Given the description of an element on the screen output the (x, y) to click on. 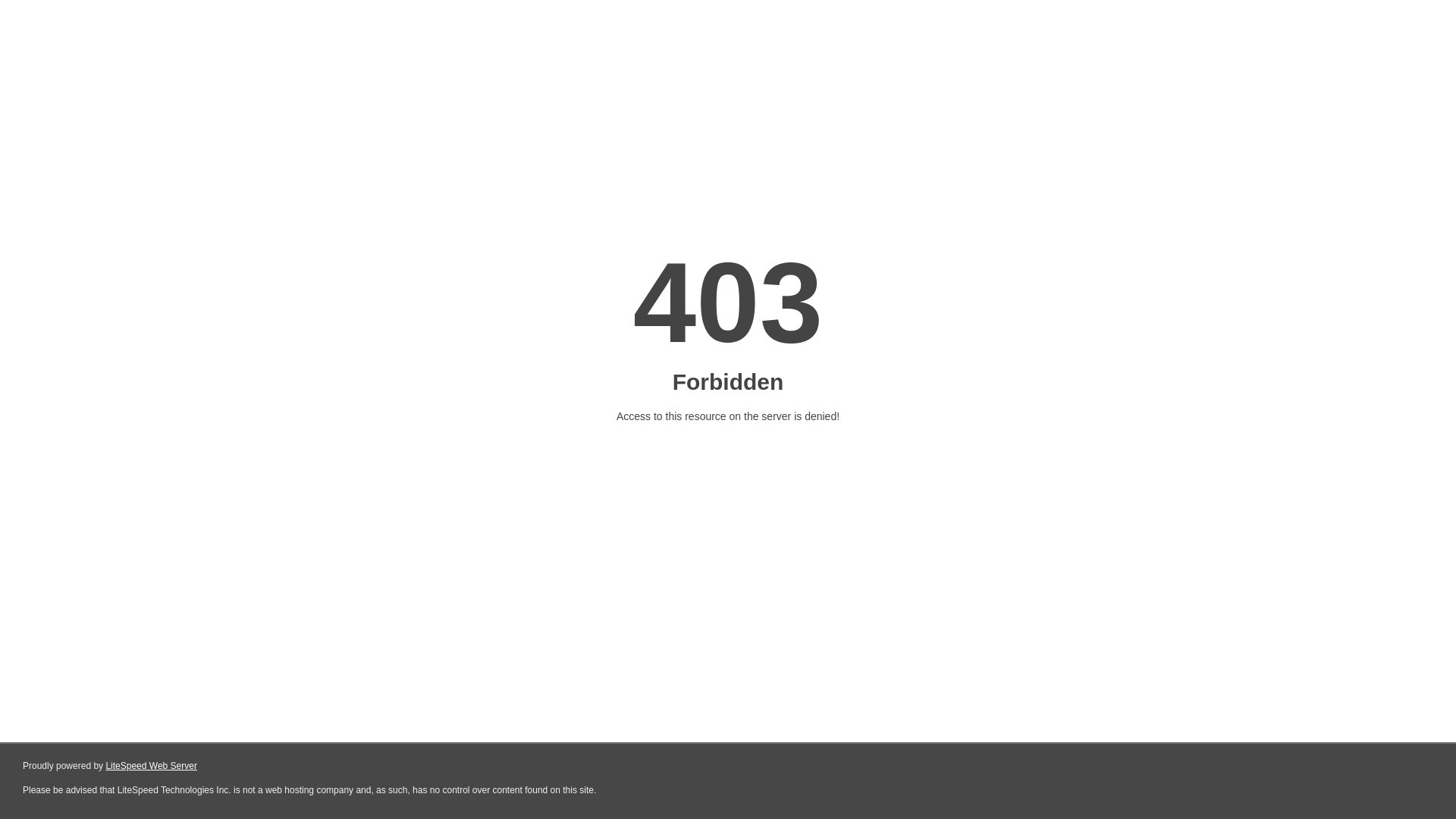
LiteSpeed Web Server Element type: text (151, 765)
